Given the description of an element on the screen output the (x, y) to click on. 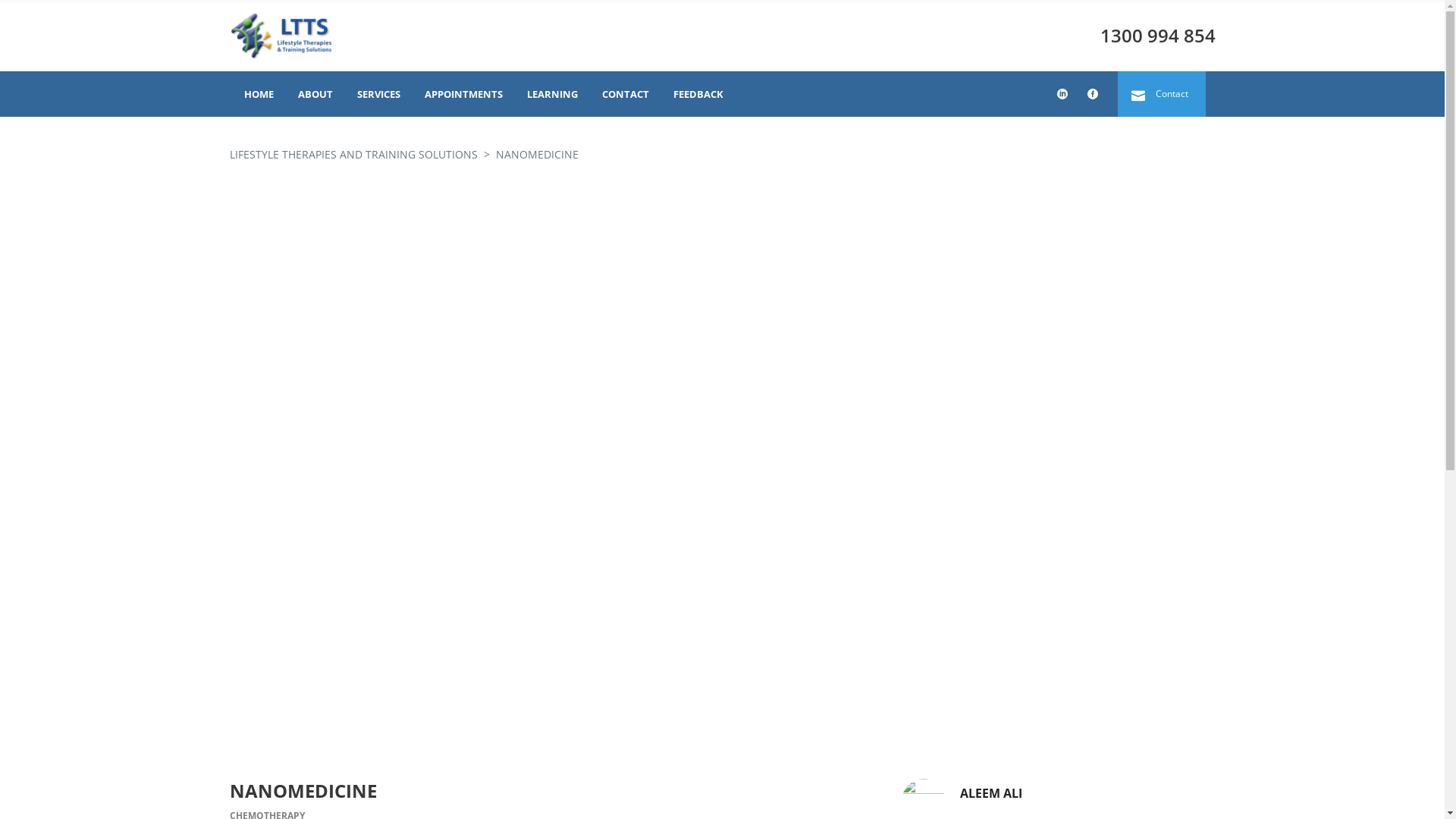
CONTACT Element type: text (623, 93)
Contact Element type: text (1161, 93)
ABOUT Element type: text (312, 93)
HOME Element type: text (257, 93)
Search Element type: text (1165, 25)
FEEDBACK Element type: text (696, 93)
SERVICES Element type: text (376, 93)
LIFESTYLE THERAPIES AND TRAINING SOLUTIONS Element type: text (352, 154)
LEARNING Element type: text (549, 93)
APPOINTMENTS Element type: text (462, 93)
